Given the description of an element on the screen output the (x, y) to click on. 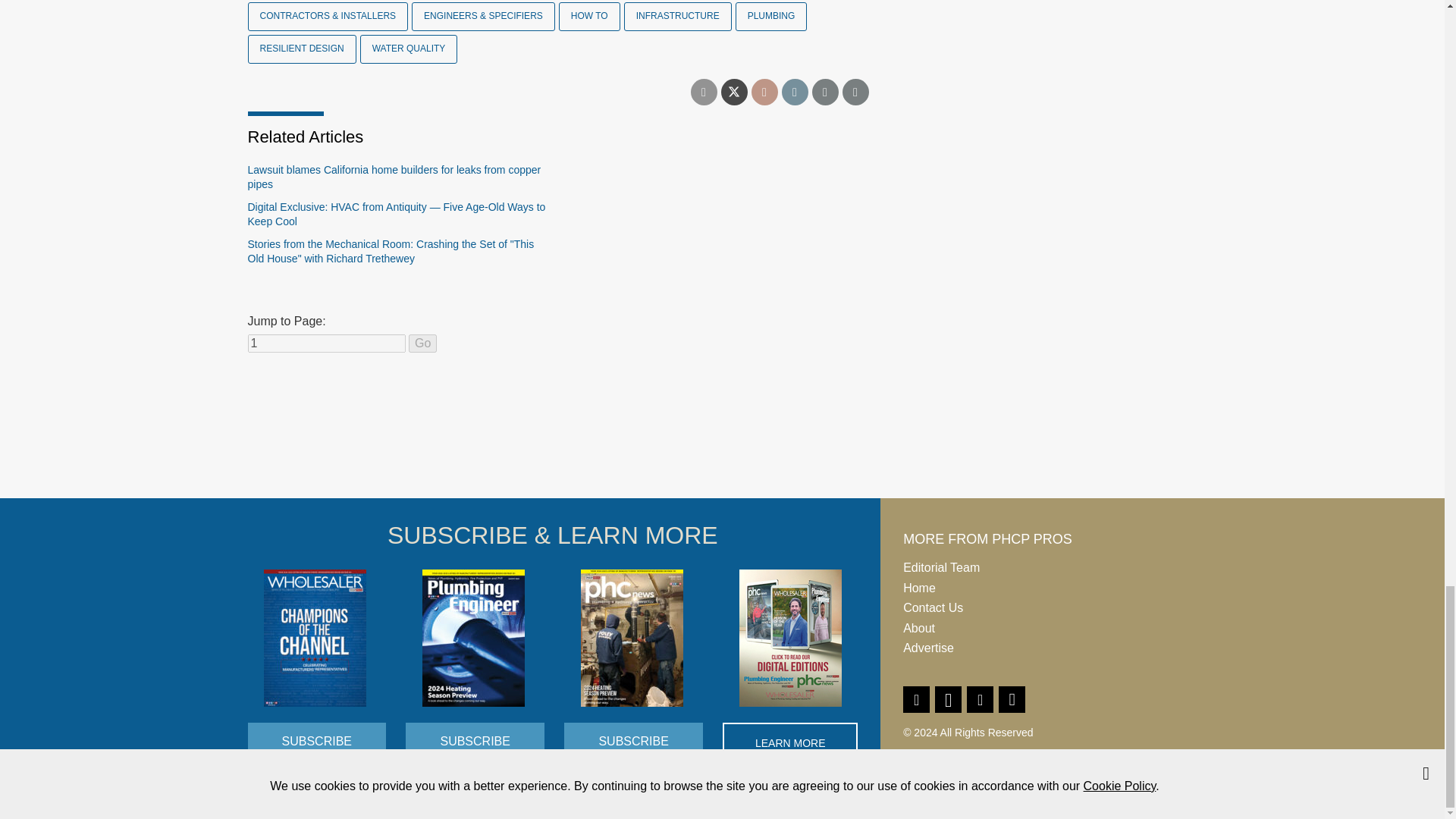
1 (325, 343)
3rd party ad content (721, 441)
Go (422, 343)
